Given the description of an element on the screen output the (x, y) to click on. 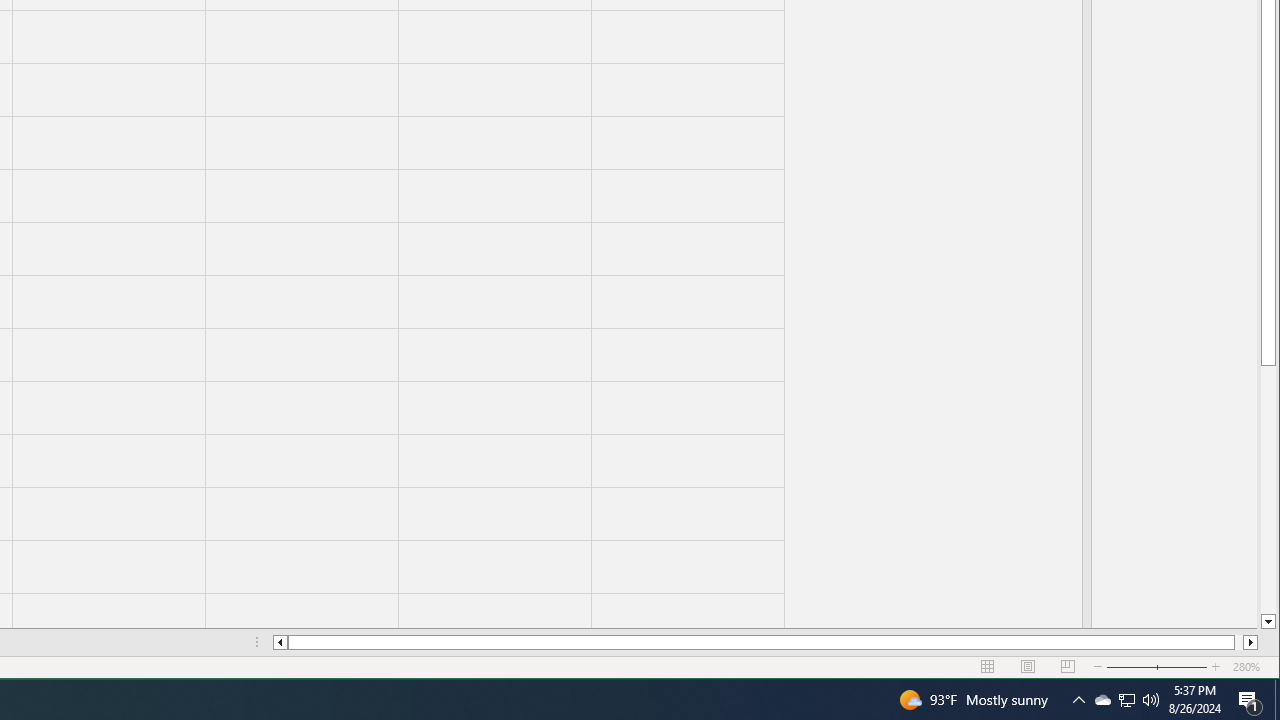
Action Center, 1 new notification (1250, 699)
